Given the description of an element on the screen output the (x, y) to click on. 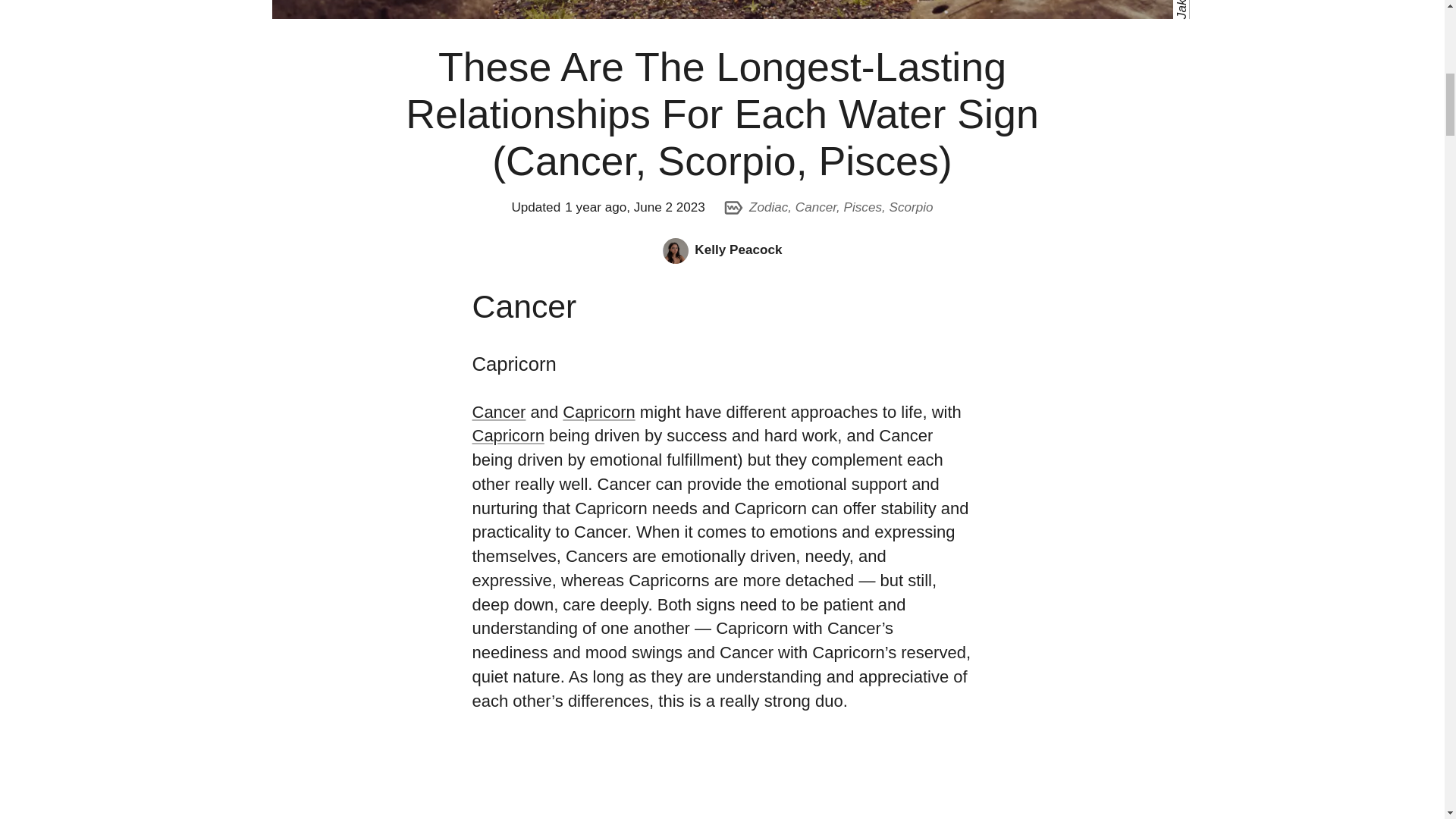
Cancer (498, 411)
Scorpio (911, 206)
Capricorn (598, 411)
Capricorn (507, 435)
Pisces (863, 206)
Cancer (814, 206)
Kelly Peacock (737, 249)
Zodiac (768, 206)
